Given the description of an element on the screen output the (x, y) to click on. 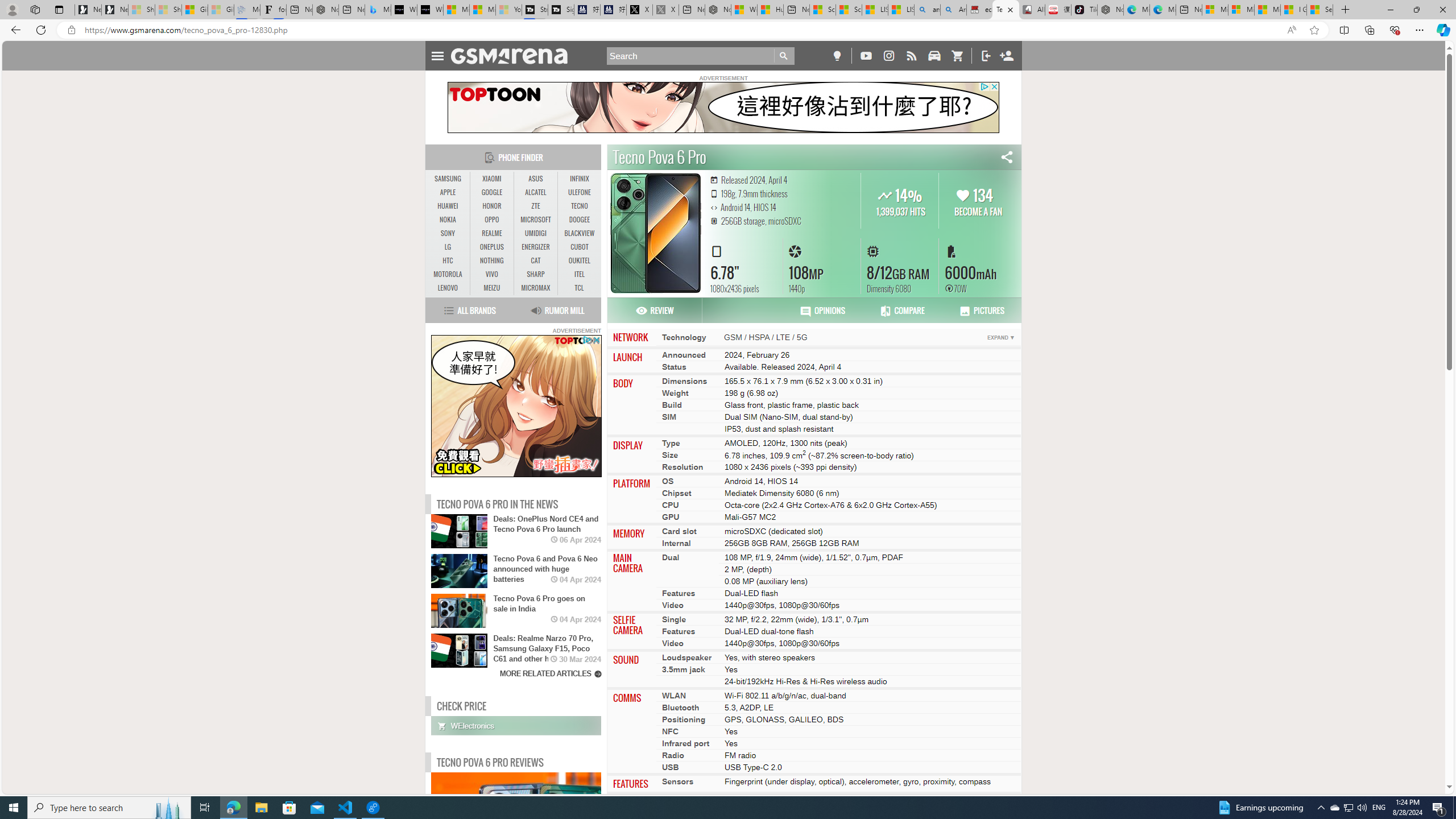
LENOVO (448, 287)
XIAOMI (491, 178)
Loudspeaker (686, 657)
amazon - Search (927, 9)
Size (670, 454)
App bar (728, 29)
NOTHING (491, 260)
TECNO (579, 206)
